Given the description of an element on the screen output the (x, y) to click on. 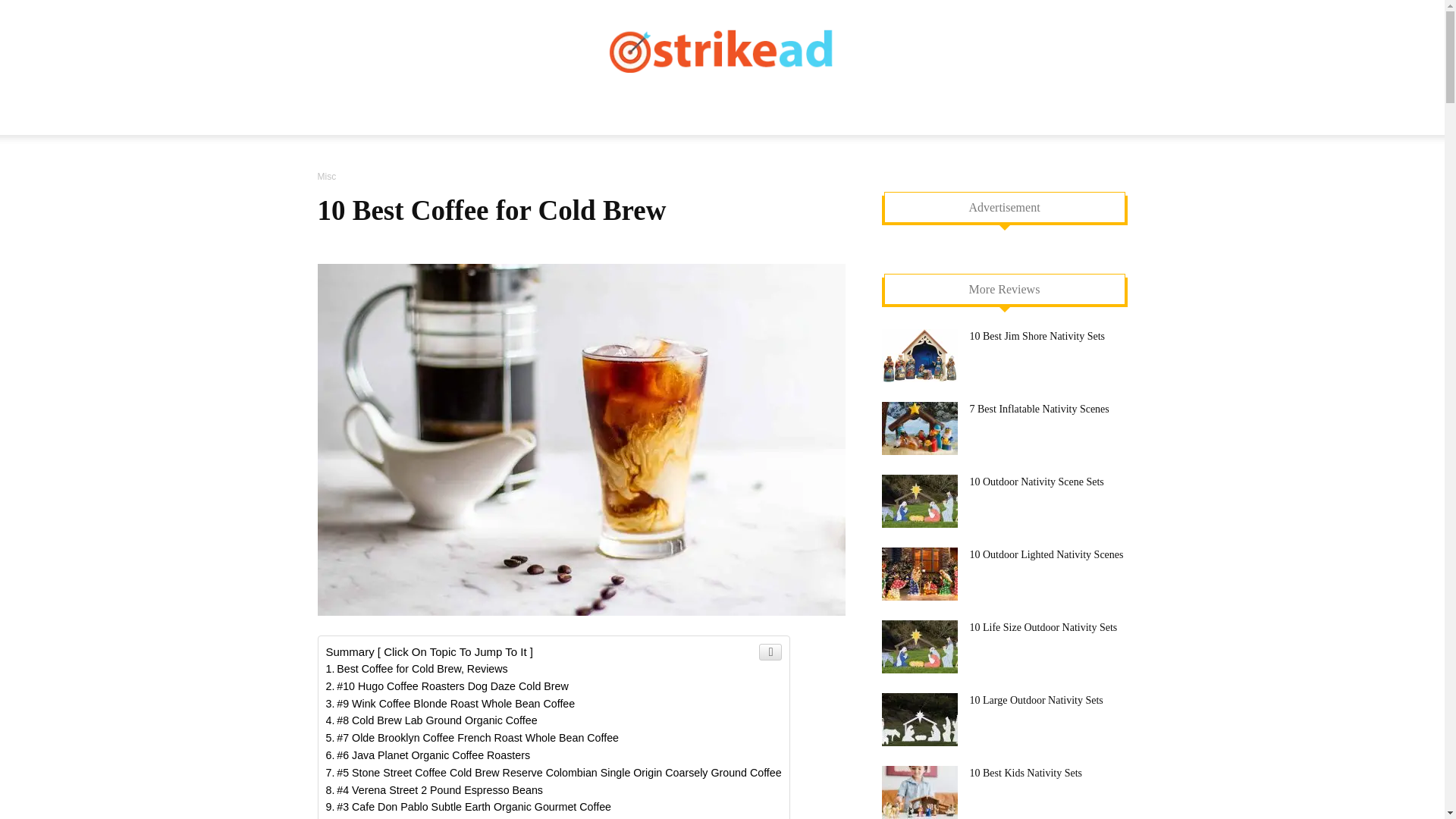
ELECTRONICS (980, 116)
MISC (383, 153)
Best Coffee for Cold Brew, Reviews (417, 668)
Best Coffee for Cold Brew, Reviews (417, 668)
Search (1085, 177)
AUTOMOTIVE (639, 116)
